Given the description of an element on the screen output the (x, y) to click on. 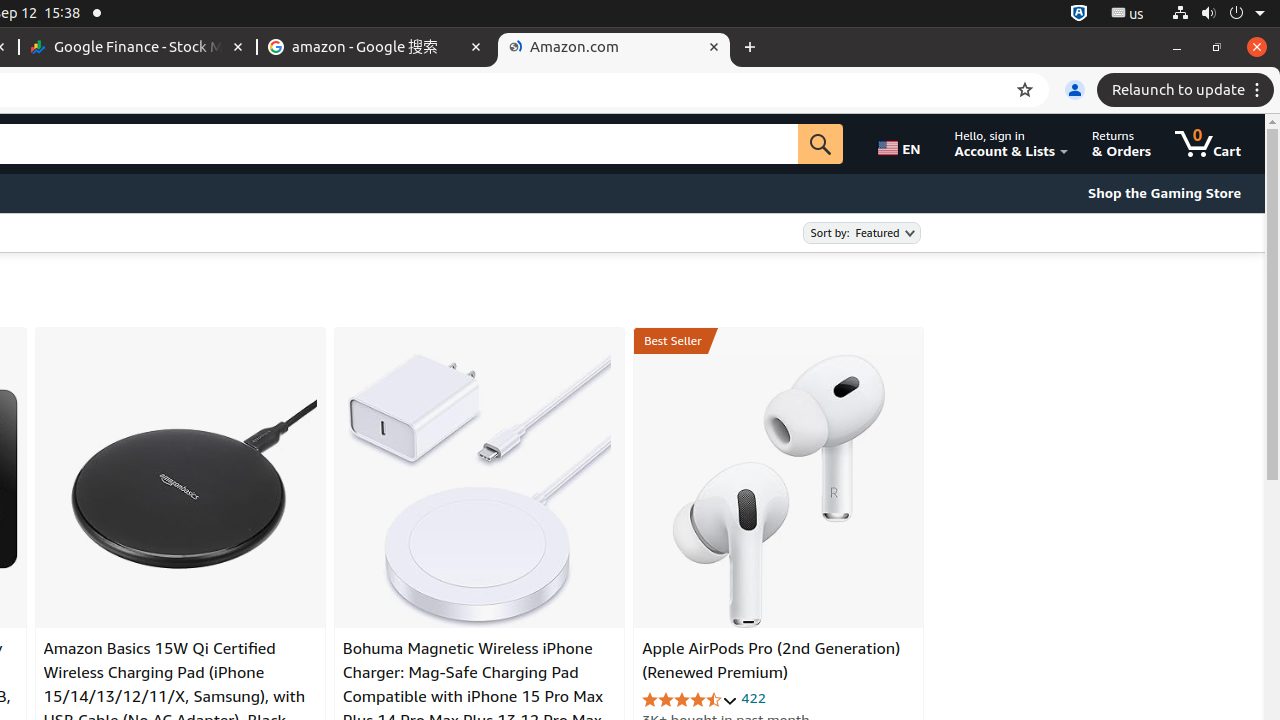
Relaunch to update Element type: push-button (1188, 90)
System Element type: menu (1218, 13)
422 Element type: link (753, 698)
amazon - Google 搜索 - Memory usage - 90.8 MB Element type: page-tab (376, 47)
Returns & Orders Element type: link (1121, 144)
